Given the description of an element on the screen output the (x, y) to click on. 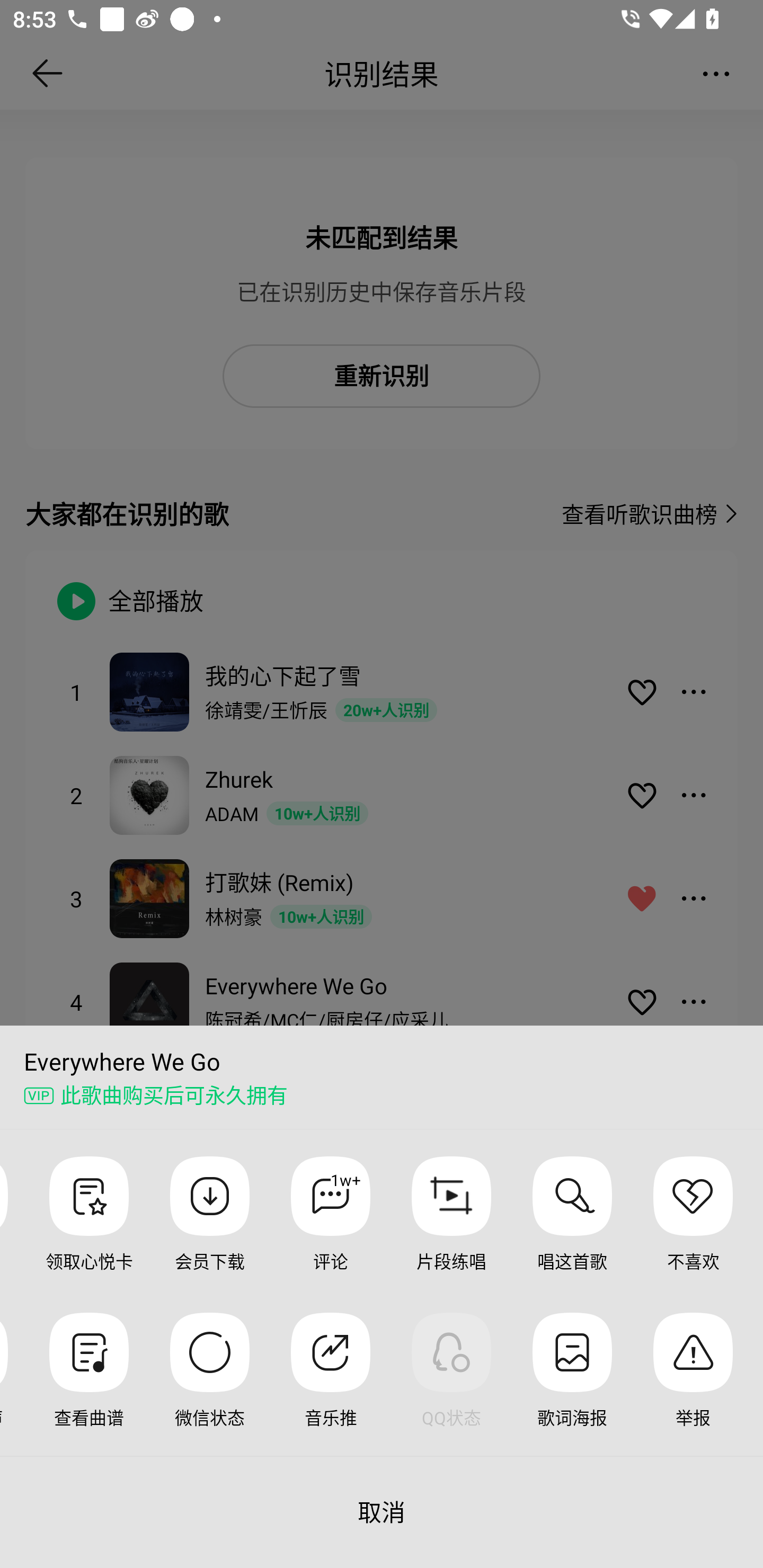
领取心悦卡 (88, 1228)
会员下载 (209, 1228)
1w+ 评论 (330, 1228)
片段练唱 (450, 1228)
唱这首歌 (571, 1228)
不喜欢 (692, 1228)
查看曲谱 (88, 1383)
微信状态 (209, 1383)
音乐推 (330, 1383)
QQ状态 (450, 1383)
歌词海报 (571, 1383)
举报 (692, 1383)
取消 (381, 1512)
